Given the description of an element on the screen output the (x, y) to click on. 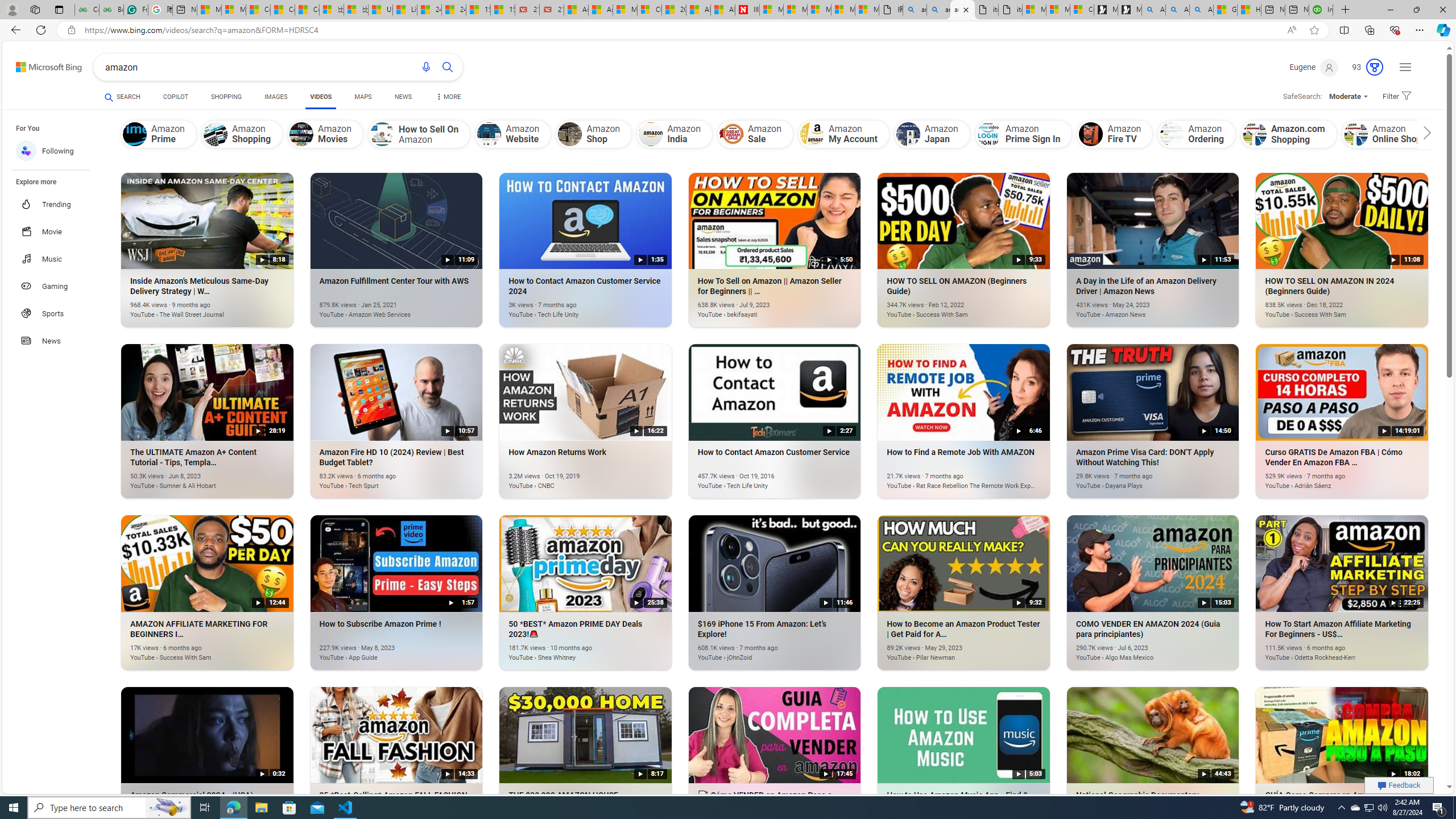
Lifestyle - MSN (404, 9)
A Day in the Life of an Amazon Delivery Driver | Amazon News (1135, 308)
Scroll right (1424, 134)
